Given the description of an element on the screen output the (x, y) to click on. 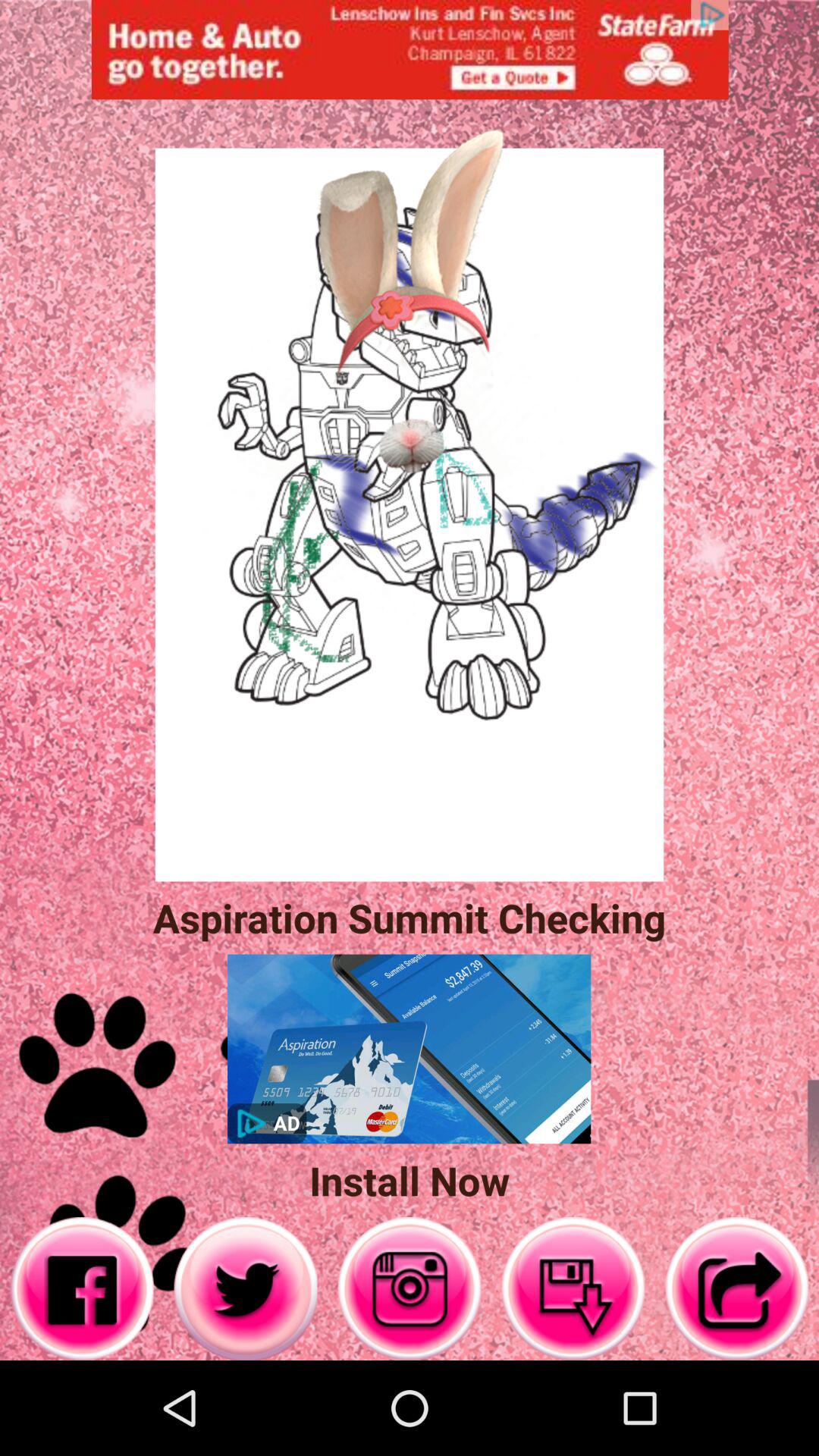
opens camera (409, 1288)
